Given the description of an element on the screen output the (x, y) to click on. 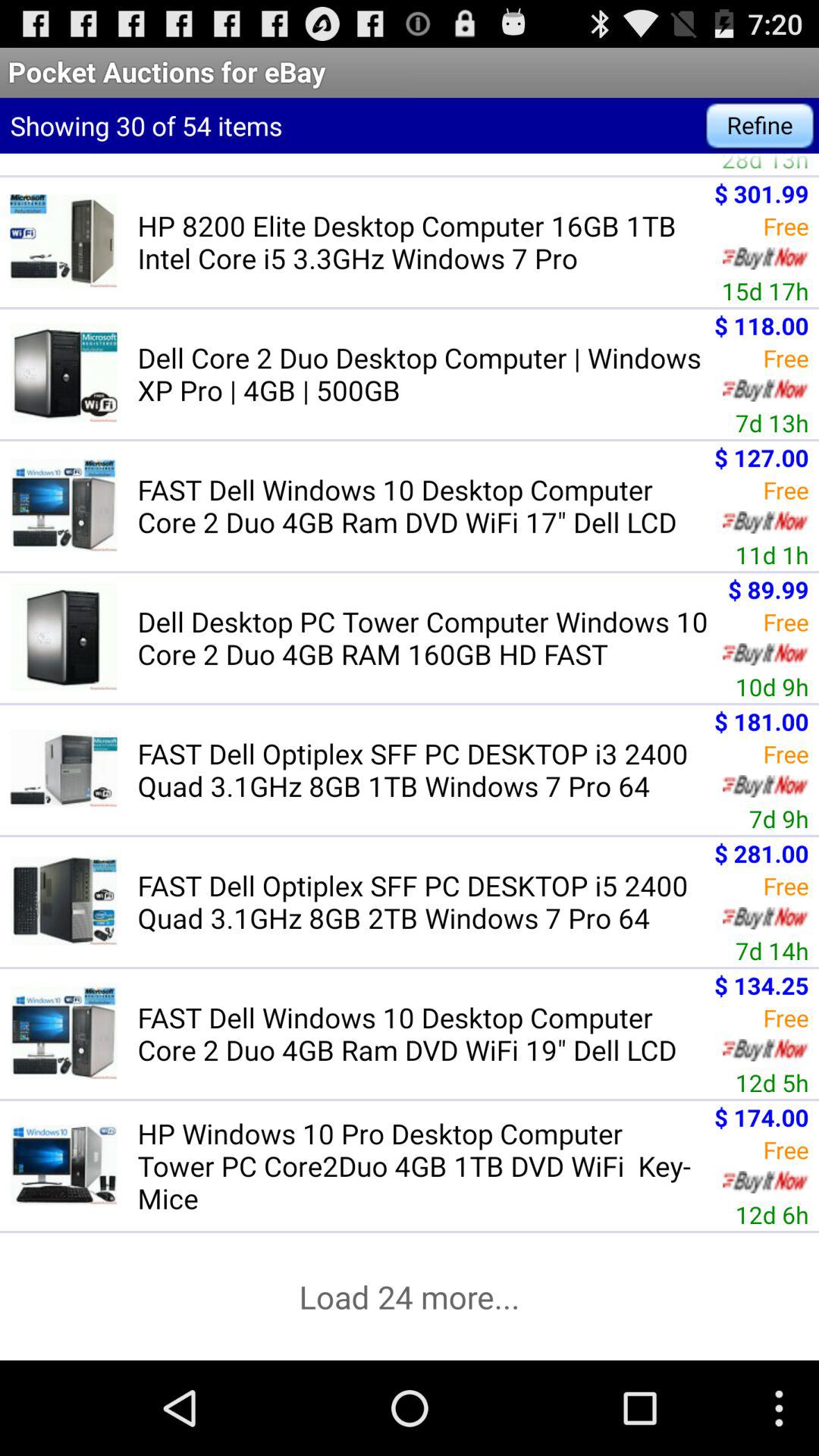
turn on icon to the right of dell core 2 icon (771, 422)
